Given the description of an element on the screen output the (x, y) to click on. 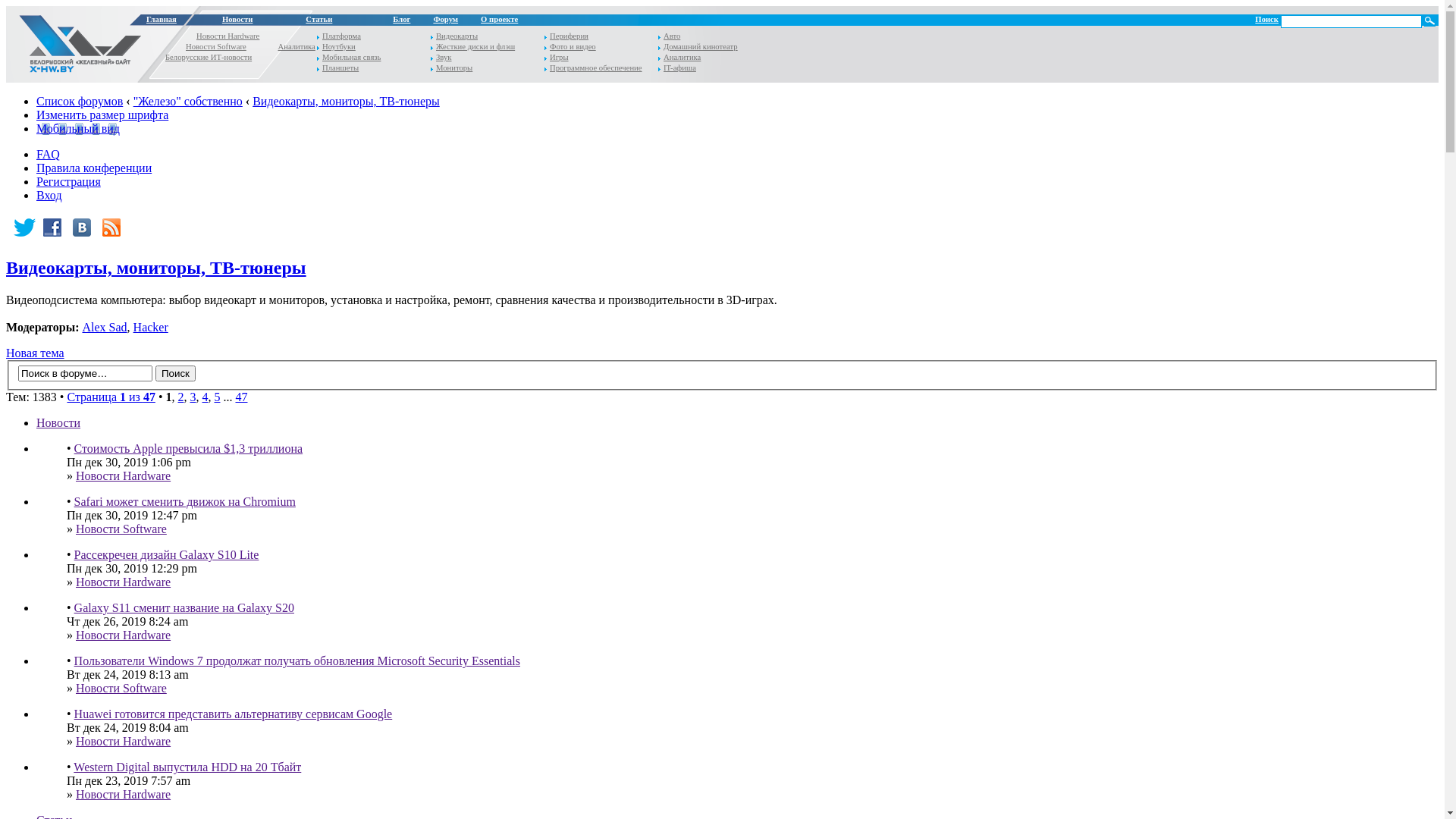
5 Element type: text (216, 396)
4 Element type: text (204, 396)
47 Element type: text (241, 396)
2 Element type: text (180, 396)
Alex Sad Element type: text (103, 326)
3 Element type: text (192, 396)
Hacker Element type: text (150, 326)
FAQ Element type: text (47, 153)
